Given the description of an element on the screen output the (x, y) to click on. 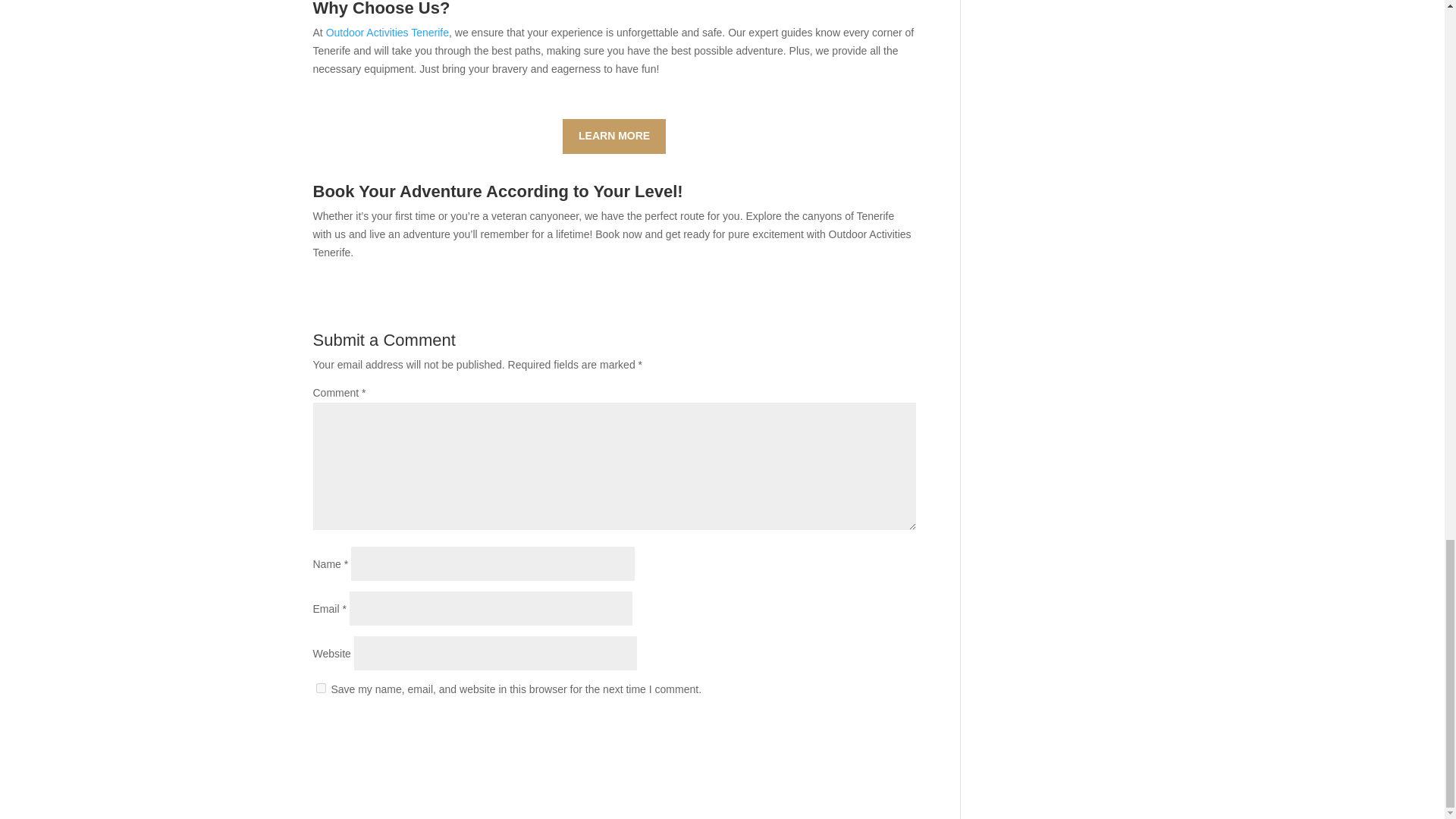
LEARN MORE (613, 135)
Outdoor Activities Tenerife (387, 32)
yes (319, 687)
